Given the description of an element on the screen output the (x, y) to click on. 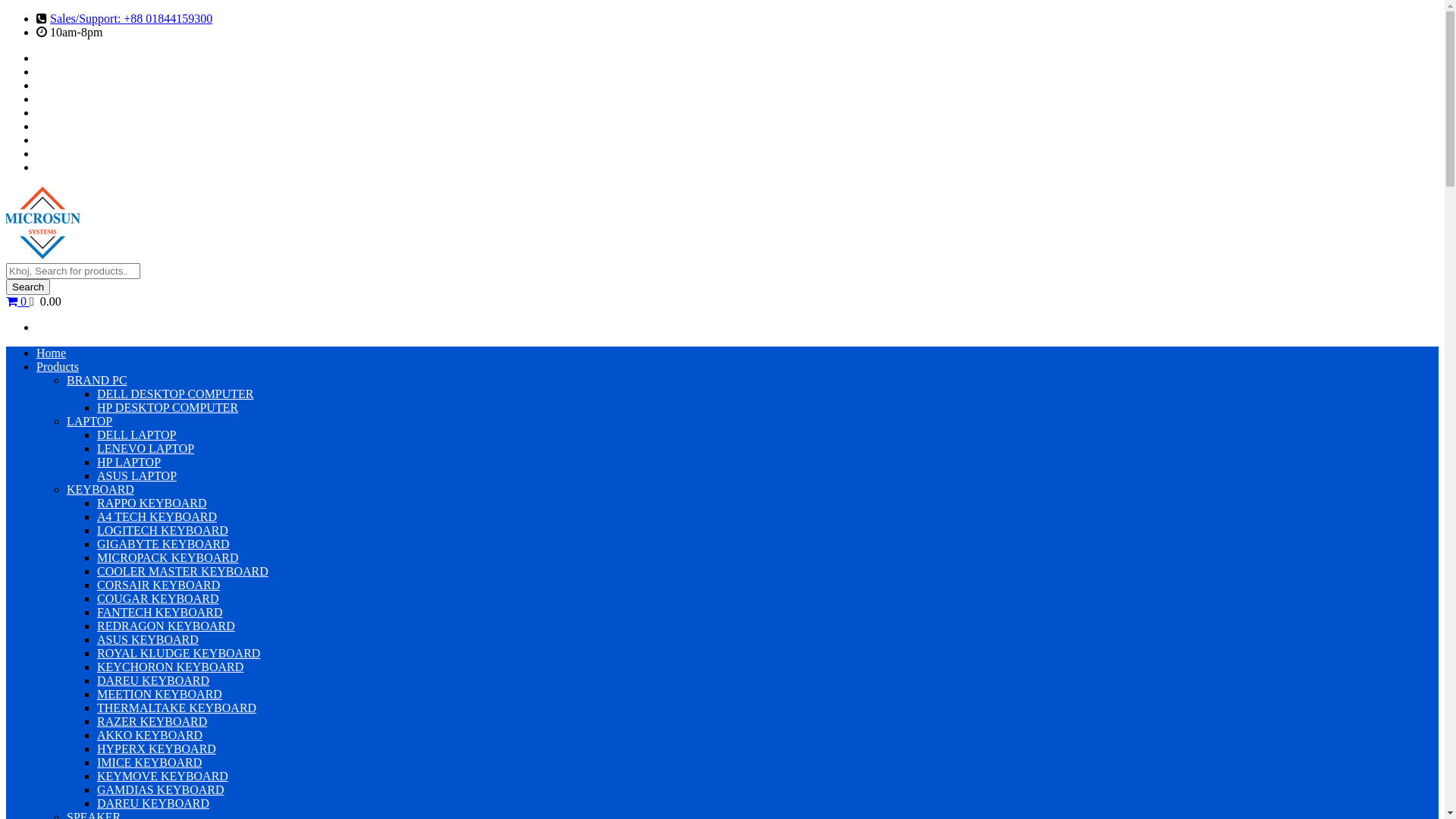
RAZER KEYBOARD Element type: text (152, 721)
GAMDIAS KEYBOARD Element type: text (160, 789)
BRAND PC Element type: text (96, 379)
Skip to content Element type: text (5, 11)
LAPTOP Element type: text (89, 420)
KEYBOARD Element type: text (100, 489)
RAPPO KEYBOARD Element type: text (151, 502)
ASUS KEYBOARD Element type: text (147, 639)
HYPERX KEYBOARD Element type: text (156, 748)
THERMALTAKE KEYBOARD Element type: text (176, 707)
HP LAPTOP Element type: text (128, 461)
REDRAGON KEYBOARD Element type: text (166, 625)
AKKO KEYBOARD Element type: text (149, 734)
Home Element type: text (50, 352)
DAREU KEYBOARD Element type: text (153, 680)
MEETION KEYBOARD Element type: text (159, 693)
HP DESKTOP COMPUTER Element type: text (167, 407)
DELL LAPTOP Element type: text (136, 434)
KEYMOVE KEYBOARD Element type: text (162, 775)
Sales/Support: +88 01844159300 Element type: text (131, 18)
CORSAIR KEYBOARD Element type: text (158, 584)
LENEVO LAPTOP Element type: text (145, 448)
GIGABYTE KEYBOARD Element type: text (163, 543)
DELL DESKTOP COMPUTER Element type: text (175, 393)
COOLER MASTER KEYBOARD Element type: text (182, 570)
LOGITECH KEYBOARD Element type: text (162, 530)
Products Element type: text (57, 366)
KEYCHORON KEYBOARD Element type: text (170, 666)
ASUS LAPTOP Element type: text (136, 475)
Search Element type: text (28, 286)
ROYAL KLUDGE KEYBOARD Element type: text (178, 652)
A4 TECH KEYBOARD Element type: text (156, 516)
MICROPACK KEYBOARD Element type: text (167, 557)
FANTECH KEYBOARD Element type: text (159, 611)
0 Element type: text (17, 300)
DAREU KEYBOARD Element type: text (153, 803)
IMICE KEYBOARD Element type: text (149, 762)
COUGAR KEYBOARD Element type: text (157, 598)
